Given the description of an element on the screen output the (x, y) to click on. 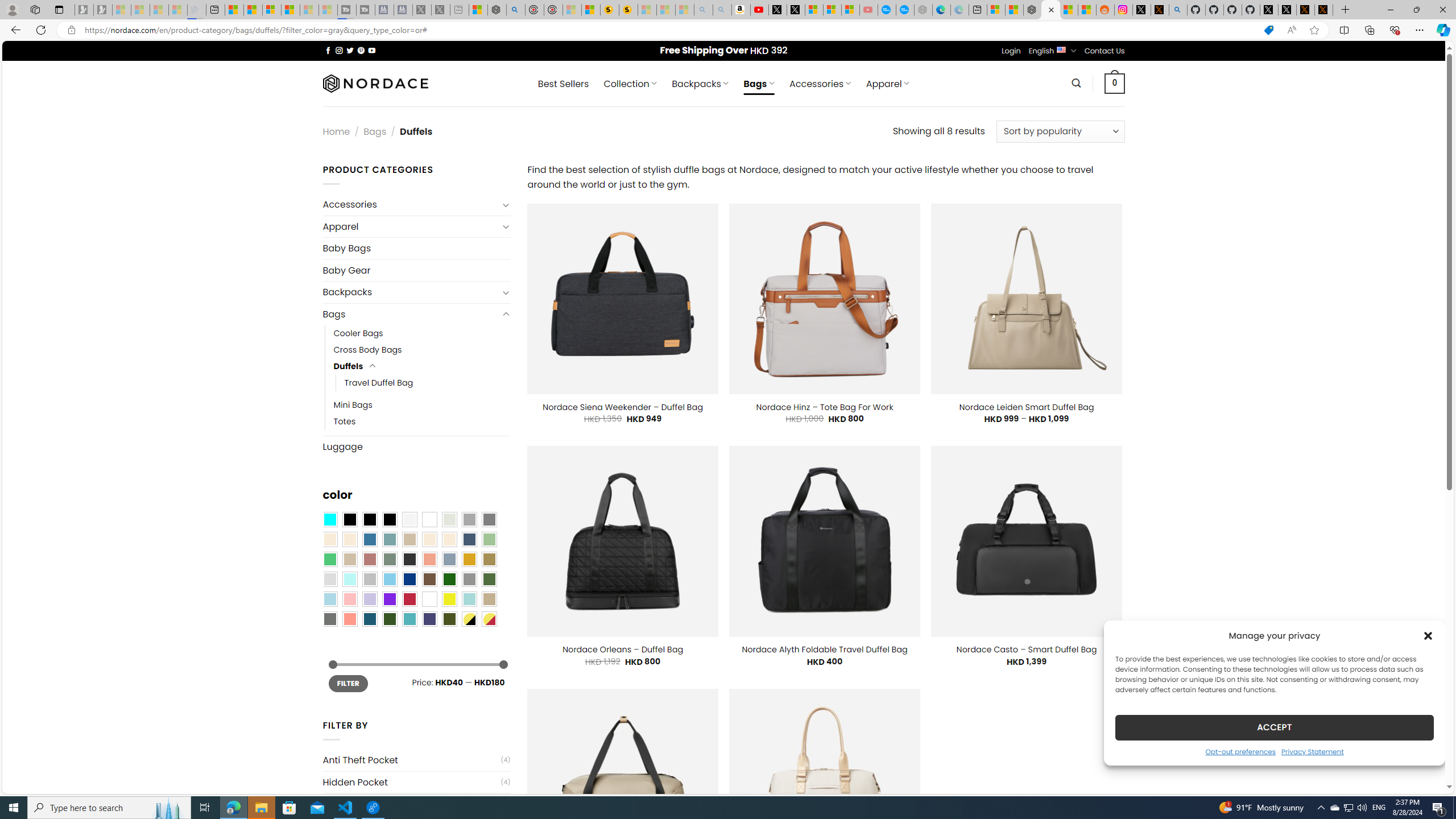
Teal (408, 618)
Laptop Sleeve (410, 804)
FILTER (347, 683)
Luggage (416, 446)
Forest (389, 618)
Hidden Pocket (410, 782)
